Given the description of an element on the screen output the (x, y) to click on. 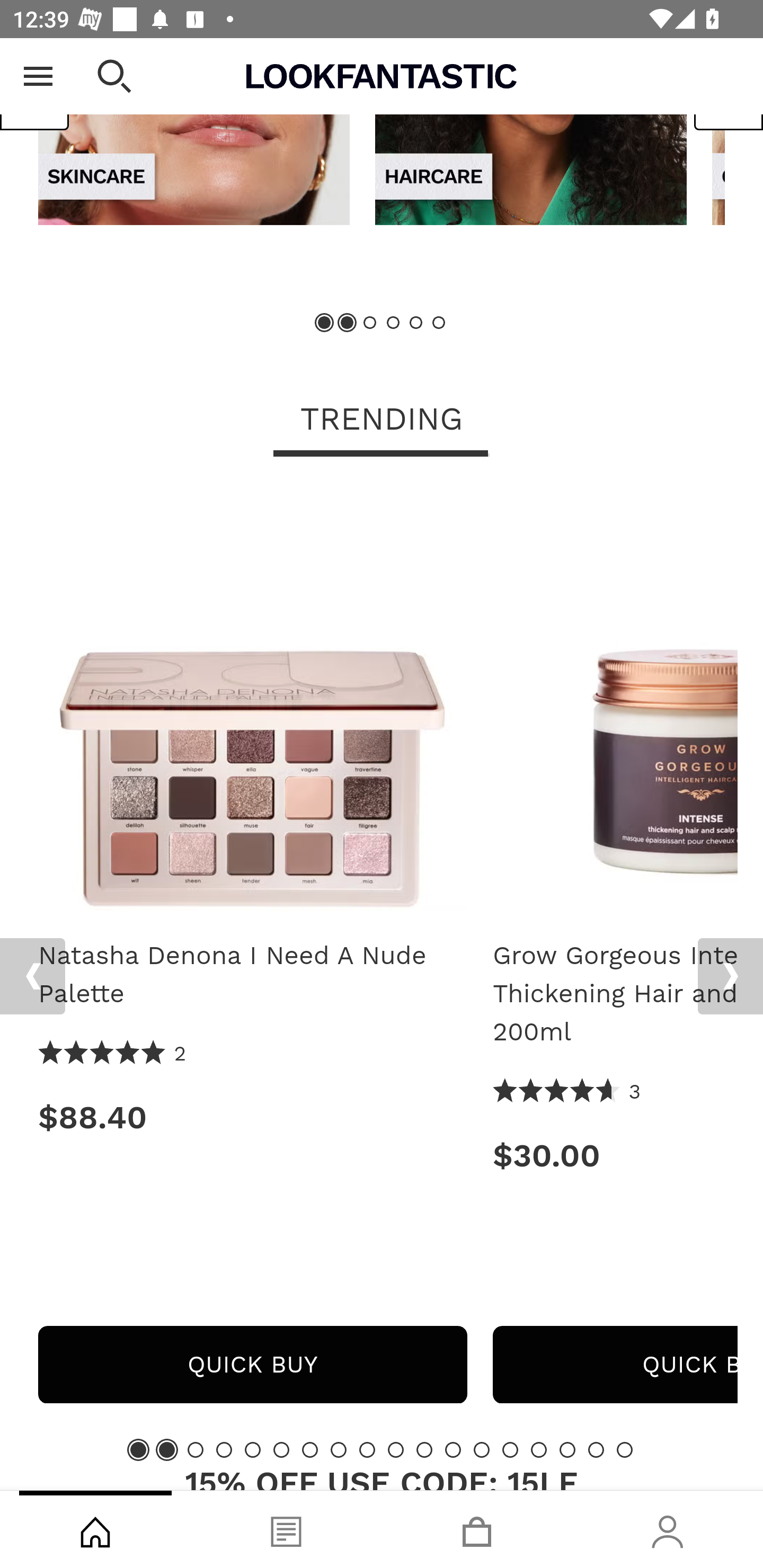
Previous (35, 90)
Showing Slide 1 (Current Item) (324, 323)
Showing Slide 2 (Current Item) (347, 323)
Slide 3 (369, 323)
Slide 4 (393, 323)
Slide 5 (415, 323)
Slide 6 (437, 323)
TRENDING (381, 420)
Natasha Denona I Need A Nude Palette (252, 703)
Natasha Denona I Need A Nude Palette (252, 975)
Previous (32, 976)
Next (730, 976)
5.0 Stars 2 Reviews (112, 1054)
4.67 Stars 3 Reviews (567, 1091)
Price: $88.40 (252, 1117)
Price: $30.00 (614, 1156)
QUICK BUY NATASHA DENONA I NEED A NUDE PALETTE (252, 1364)
Showing Slide 1 (Current Item) (138, 1449)
Showing Slide 2 (Current Item) (166, 1449)
Slide 3 (195, 1449)
Slide 4 (223, 1449)
Slide 5 (252, 1449)
Slide 6 (281, 1449)
Slide 7 (310, 1449)
Slide 8 (338, 1449)
Slide 9 (367, 1449)
Slide 10 (395, 1449)
Slide 11 (424, 1449)
Slide 12 (452, 1449)
Slide 13 (481, 1449)
Slide 14 (510, 1449)
Slide 15 (539, 1449)
Slide 16 (567, 1449)
Slide 17 (596, 1449)
Slide 18 (624, 1449)
Shop, tab, 1 of 4 (95, 1529)
Blog, tab, 2 of 4 (285, 1529)
Basket, tab, 3 of 4 (476, 1529)
Account, tab, 4 of 4 (667, 1529)
